Given the description of an element on the screen output the (x, y) to click on. 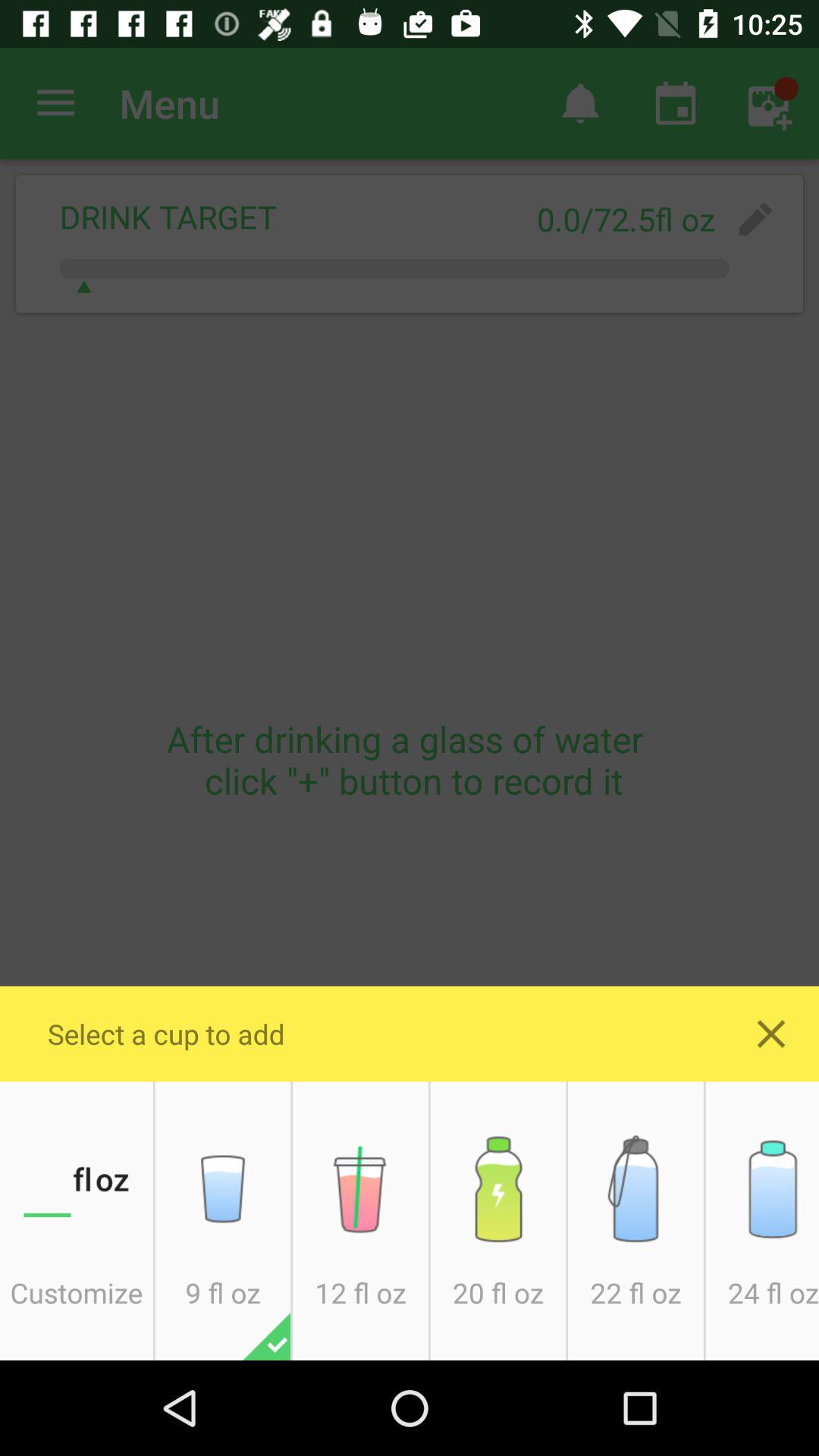
close the tab (771, 1033)
